Given the description of an element on the screen output the (x, y) to click on. 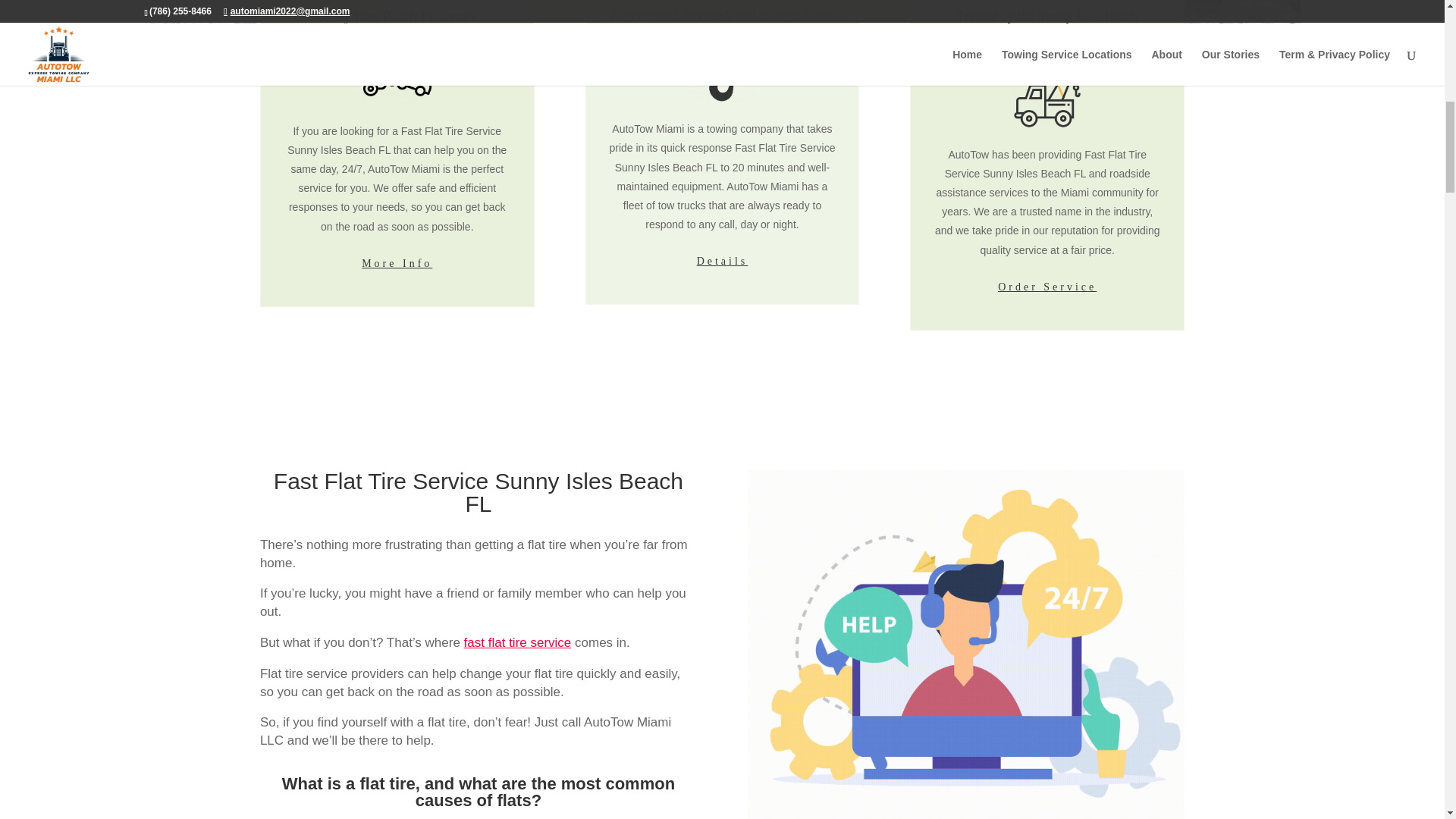
Details (721, 261)
fast flat tire service (518, 642)
More Info (396, 263)
Order Service (1046, 287)
